Given the description of an element on the screen output the (x, y) to click on. 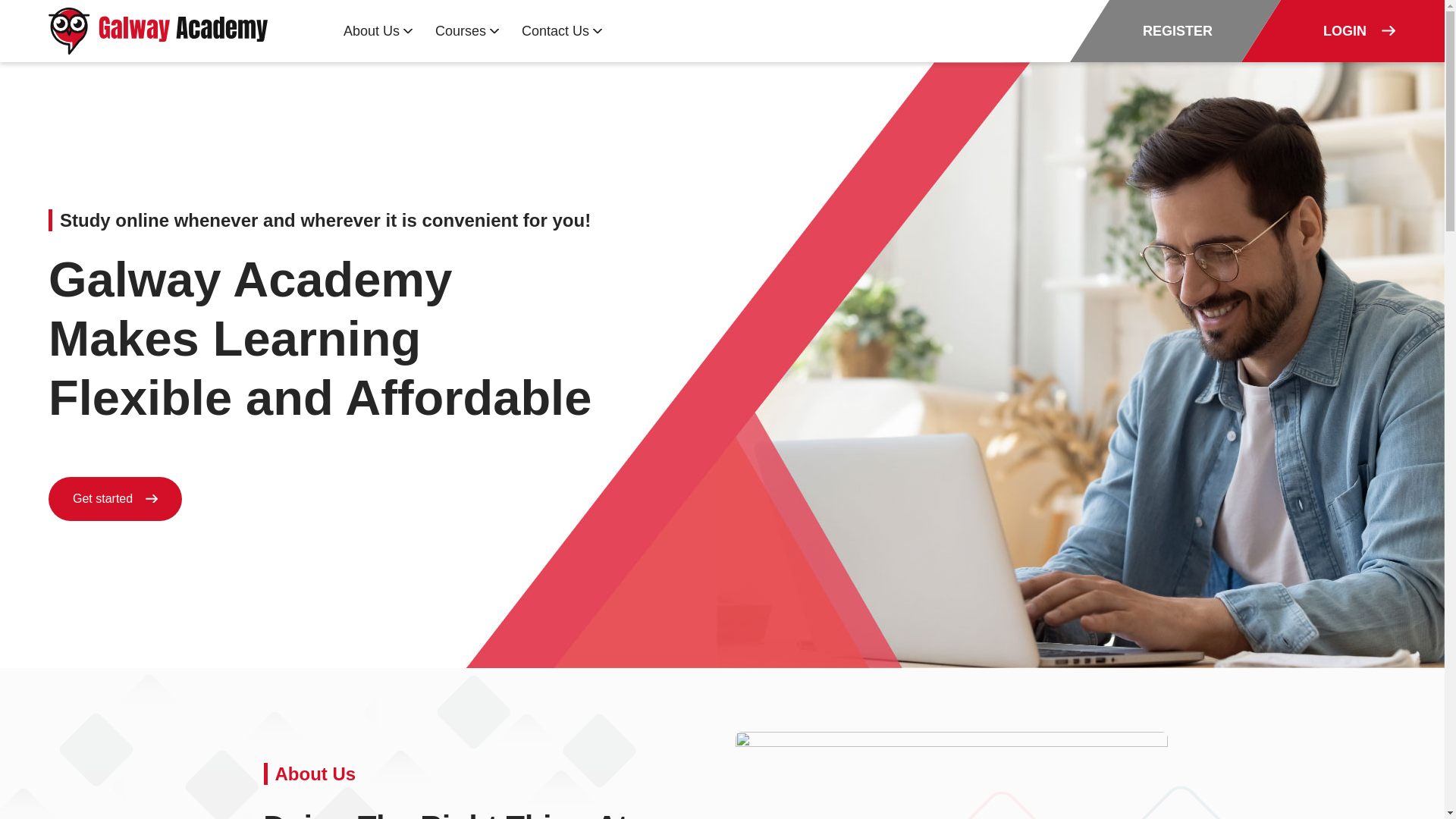
REGISTER (1155, 31)
Courses (467, 30)
Contact Us (561, 30)
About Us (377, 30)
